Given the description of an element on the screen output the (x, y) to click on. 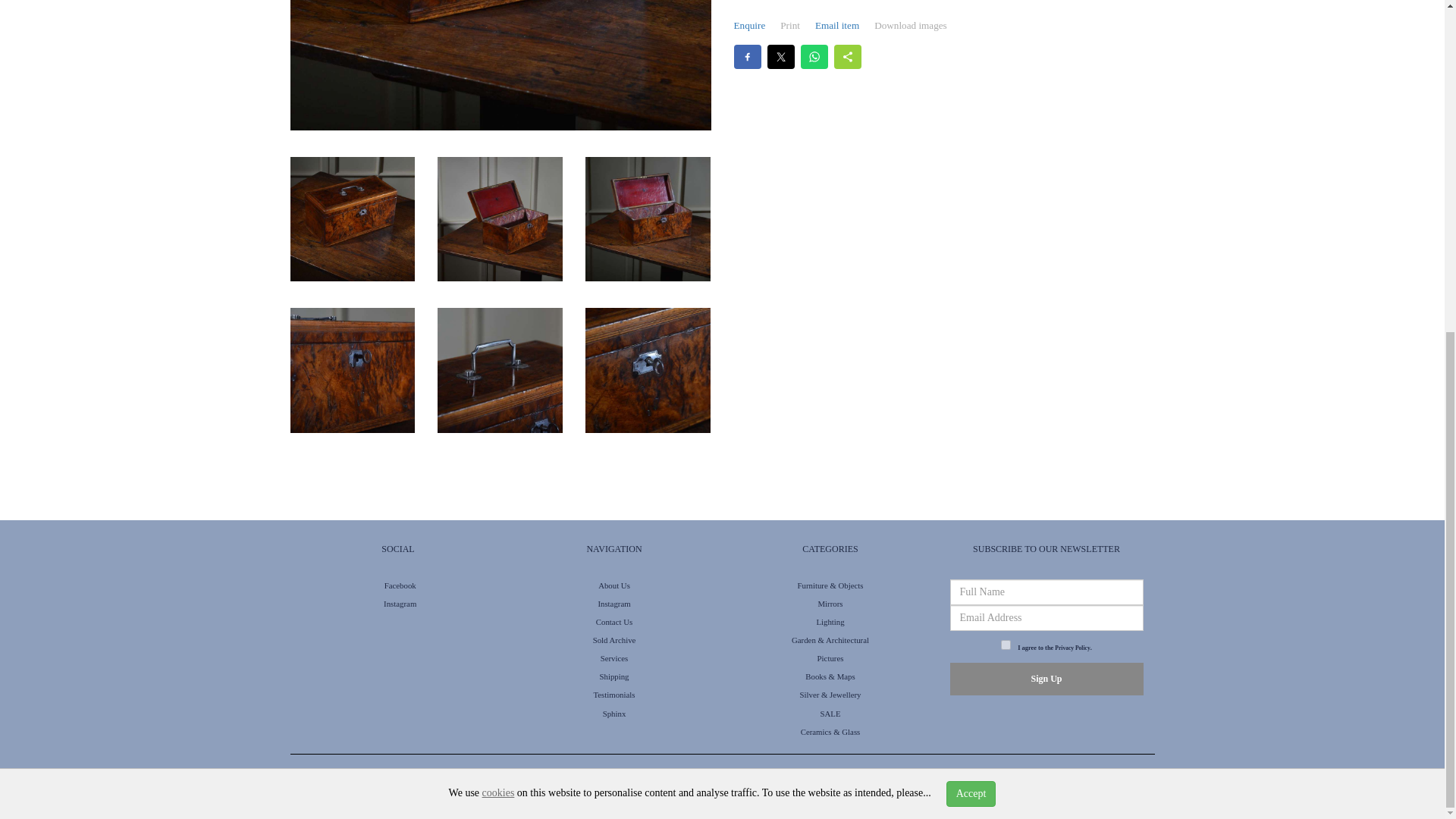
Services (613, 657)
Instagram (613, 603)
Testimonials (613, 694)
Email item (837, 25)
Print (789, 25)
Mirrors (829, 603)
  Instagram (398, 603)
Enquire (749, 25)
About Us (614, 584)
Lighting (829, 621)
